Given the description of an element on the screen output the (x, y) to click on. 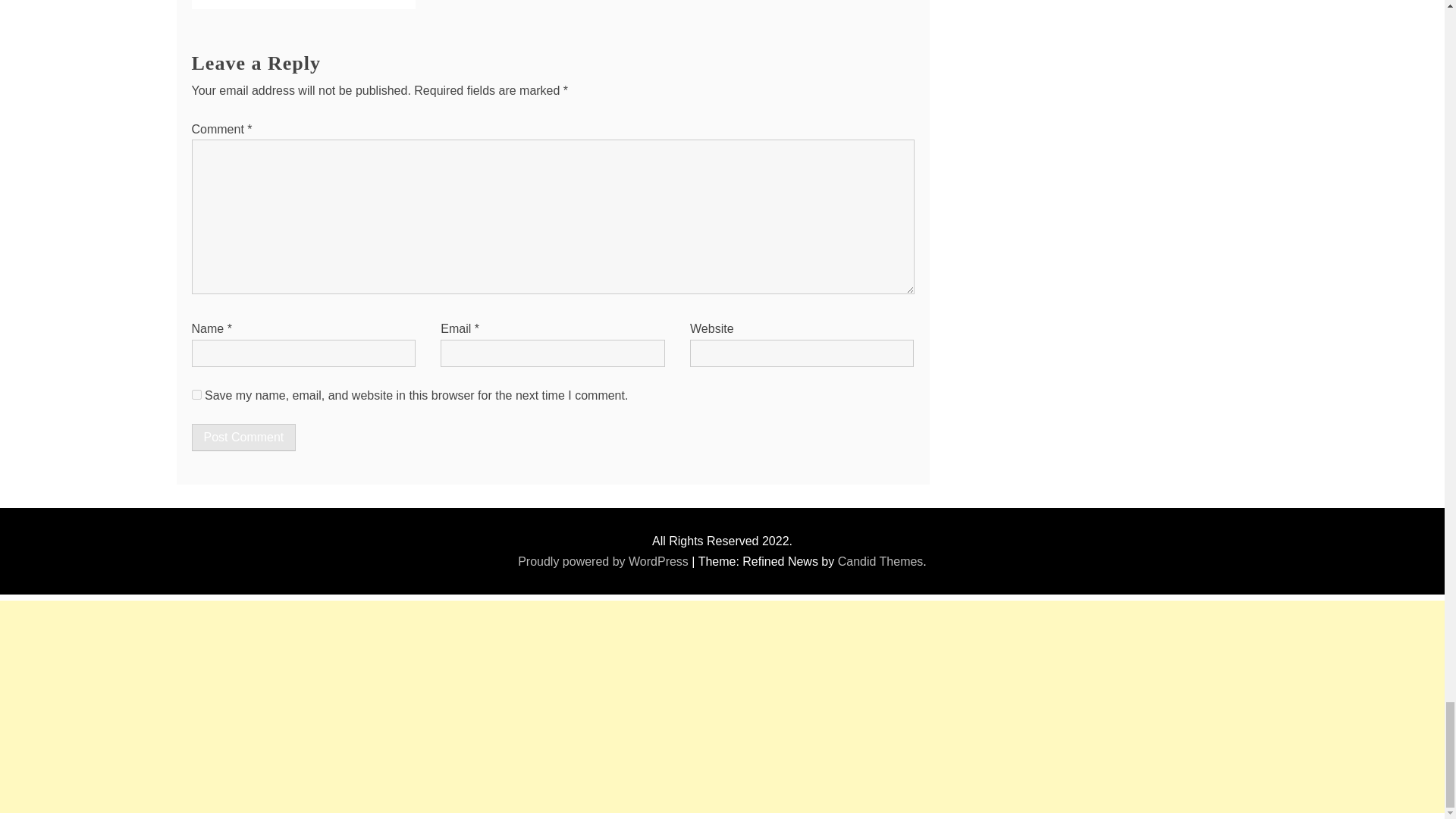
Post Comment (242, 437)
Post Comment (242, 437)
yes (195, 394)
